Given the description of an element on the screen output the (x, y) to click on. 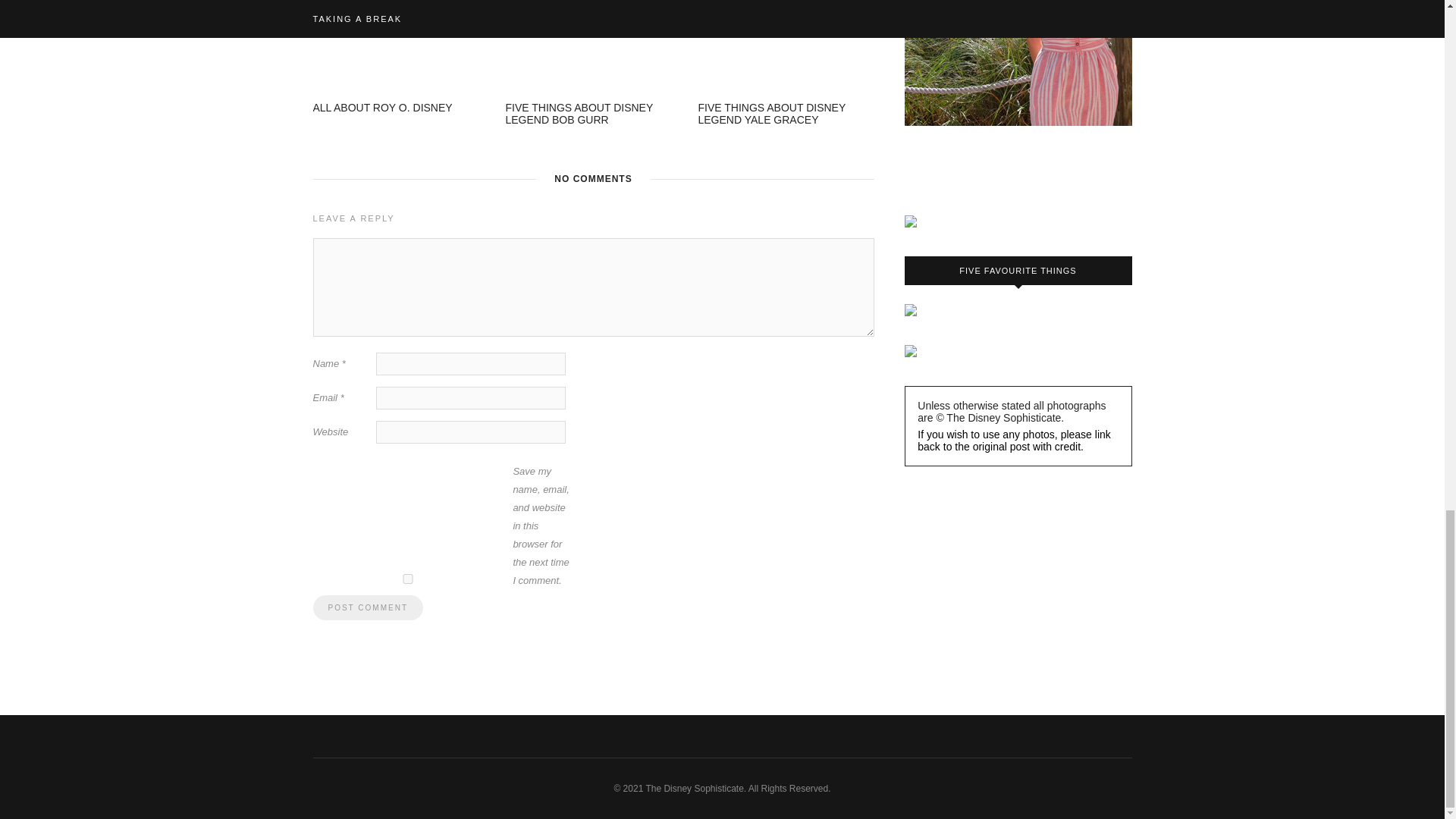
ALL ABOUT ROY O. DISNEY (382, 107)
FIVE THINGS ABOUT DISNEY LEGEND YALE GRACEY (771, 113)
Post Comment (367, 607)
FIVE THINGS ABOUT DISNEY LEGEND BOB GURR (578, 113)
Post Comment (367, 607)
yes (407, 578)
